Given the description of an element on the screen output the (x, y) to click on. 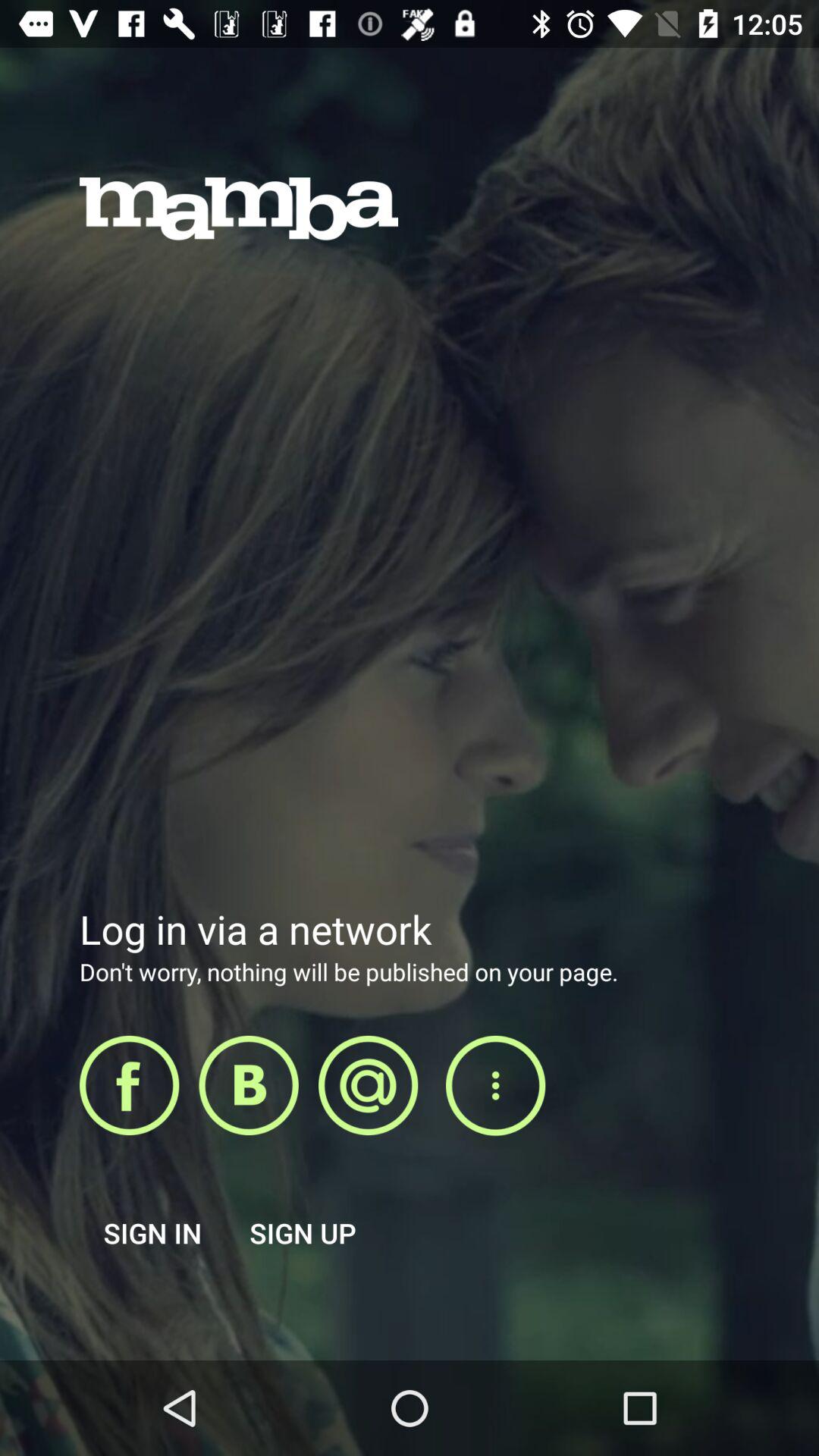
login with email (368, 1085)
